Given the description of an element on the screen output the (x, y) to click on. 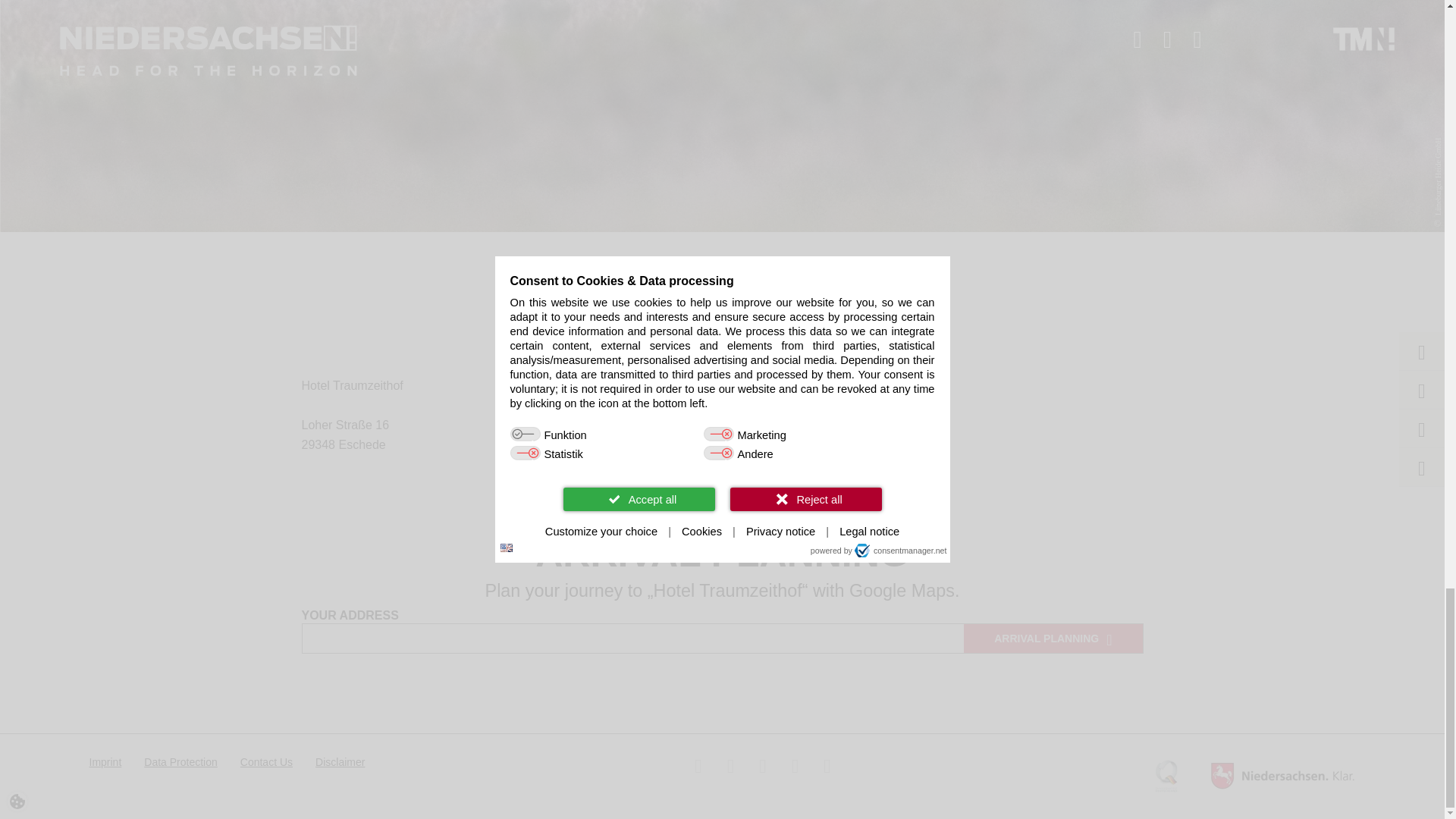
Imprint (105, 761)
Data Protection (180, 761)
Contact Us (266, 761)
Disclaimer (340, 761)
ARRIVAL PLANNING (1052, 638)
